Given the description of an element on the screen output the (x, y) to click on. 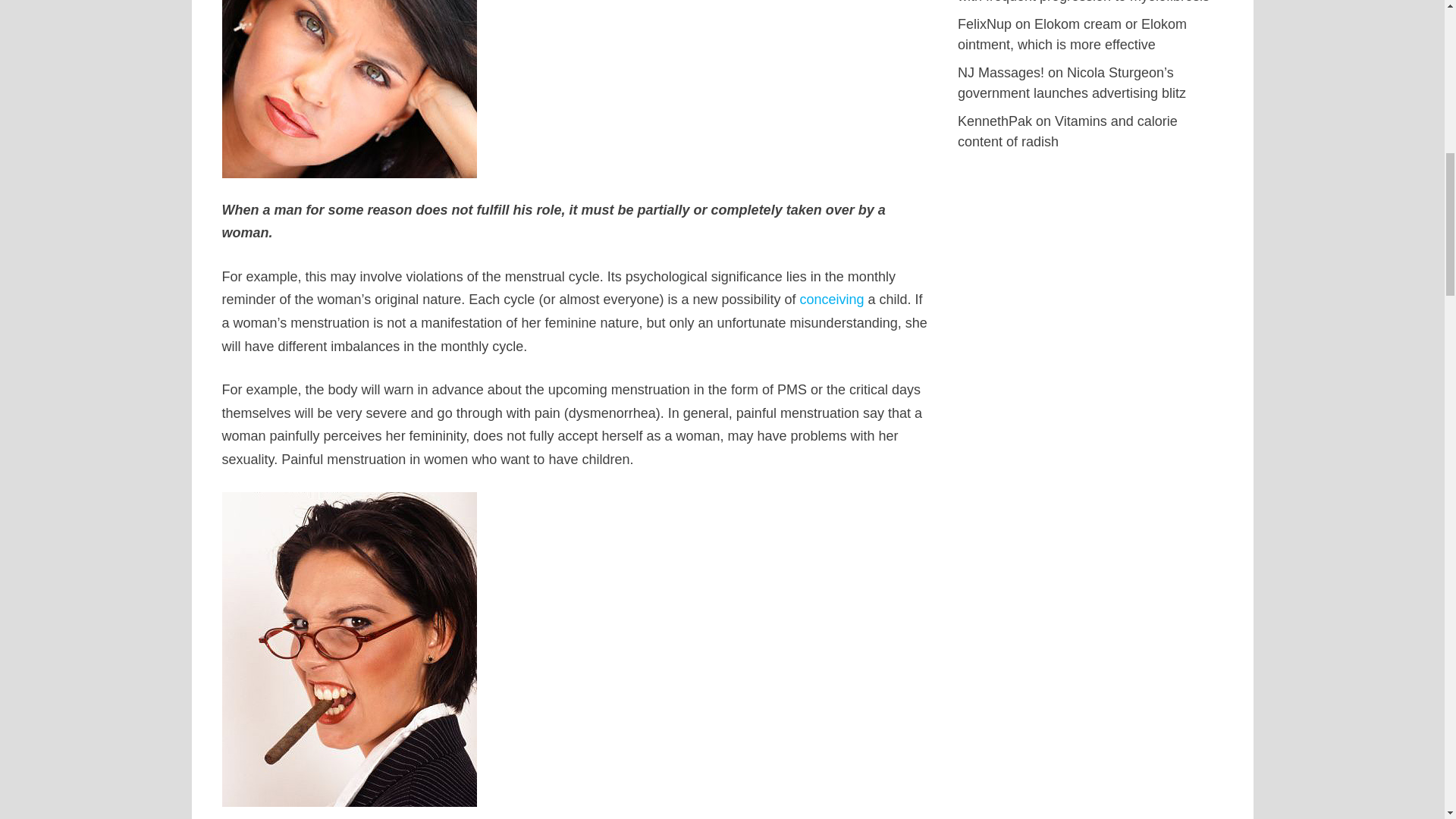
conceiving (831, 299)
